Given the description of an element on the screen output the (x, y) to click on. 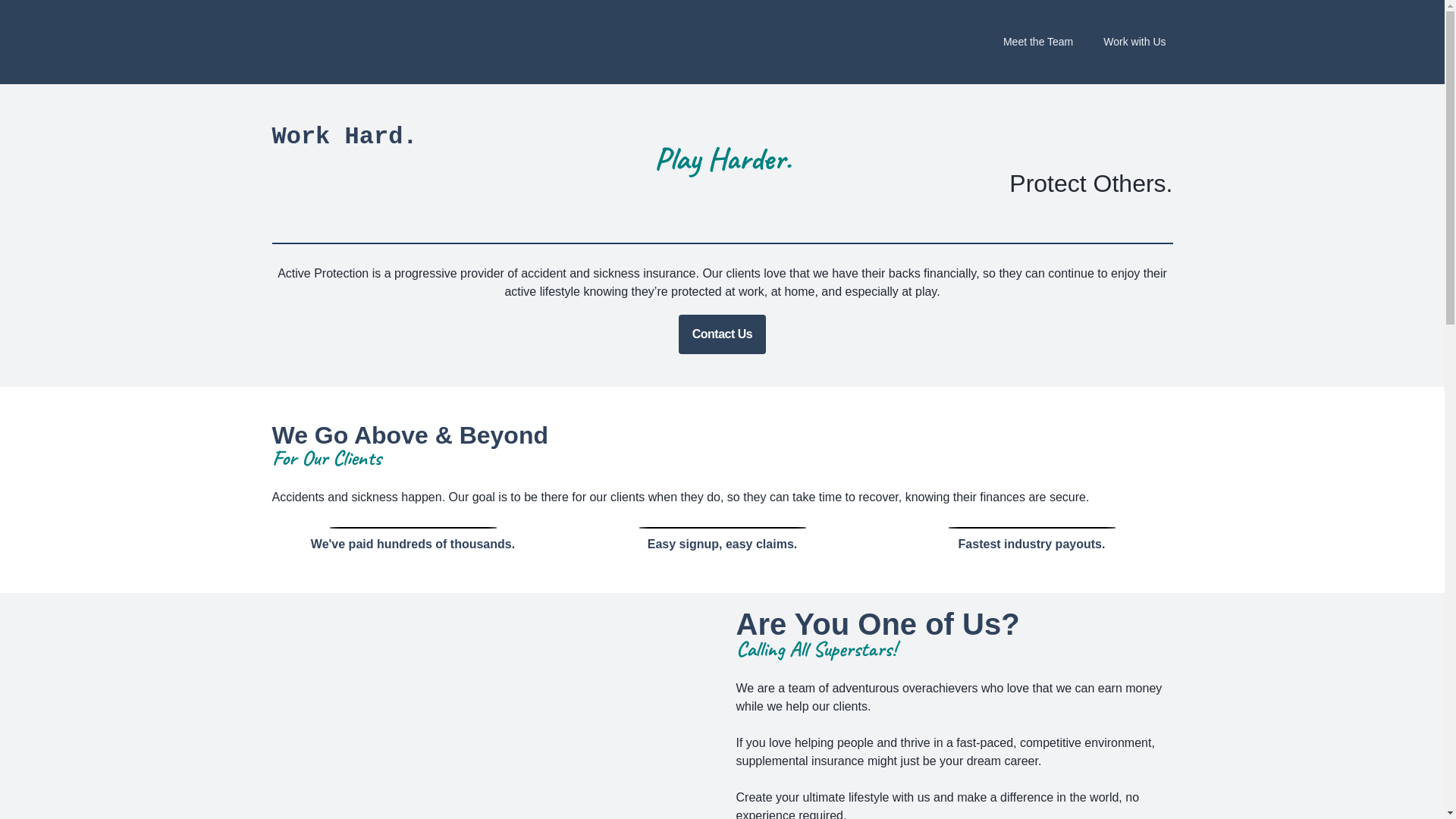
Contact Us Element type: text (721, 334)
Work with Us Element type: text (1134, 41)
Meet the Team Element type: text (1038, 41)
